Given the description of an element on the screen output the (x, y) to click on. 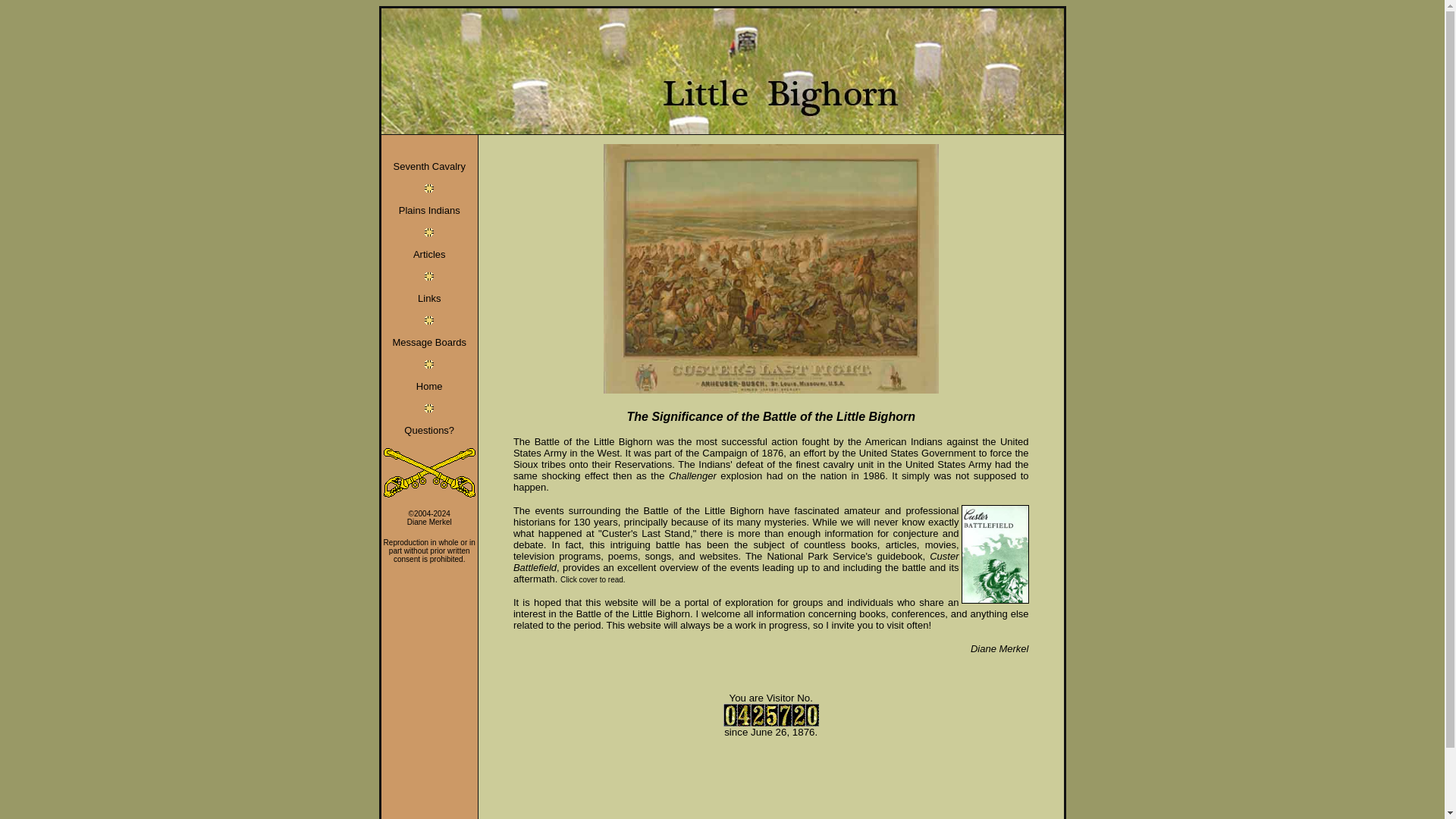
Articles (429, 254)
Message Boards (428, 342)
Plains Indians (429, 210)
Links (429, 297)
Home (429, 386)
Questions? (429, 430)
Seventh Cavalry (429, 165)
